Given the description of an element on the screen output the (x, y) to click on. 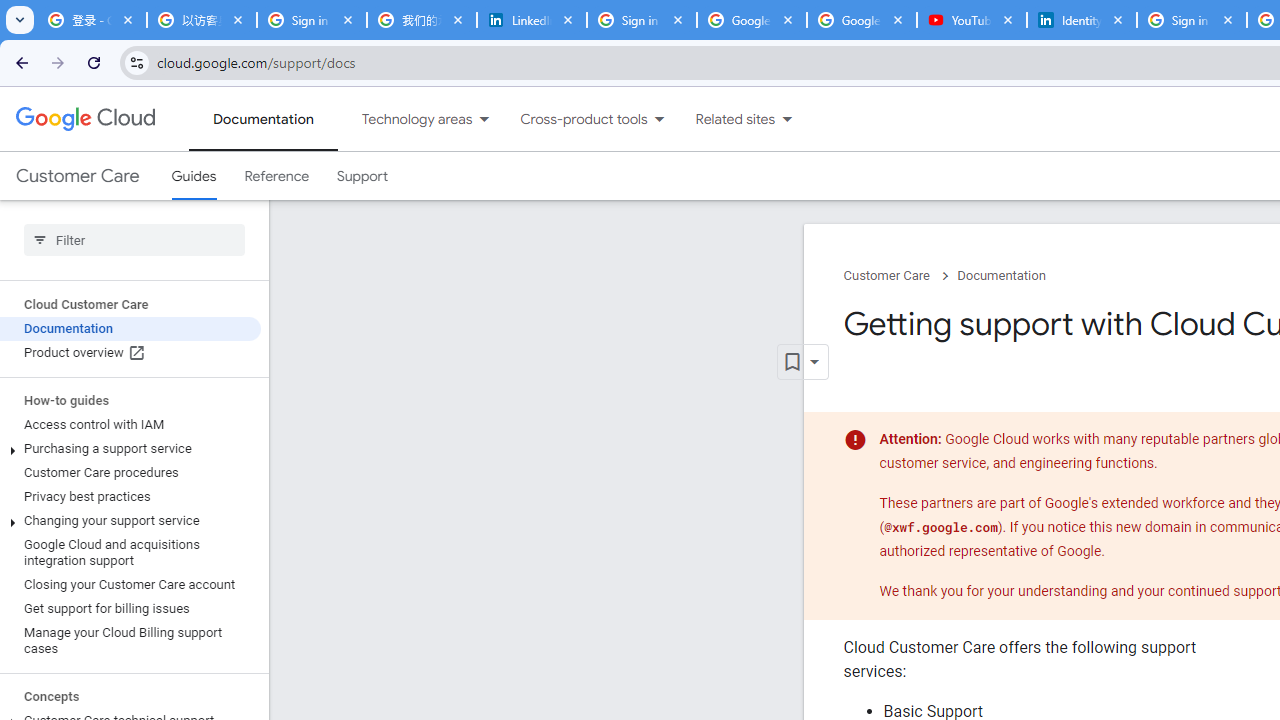
Manage your Cloud Billing support cases (130, 640)
Technology areas (404, 119)
Changing your support service (130, 520)
Guides, selected (193, 175)
Product overview (130, 353)
Customer Care chevron_right (900, 276)
Access control with IAM (130, 425)
Get support for billing issues (130, 608)
Cross-product tools (571, 119)
Google Cloud (84, 118)
